Given the description of an element on the screen output the (x, y) to click on. 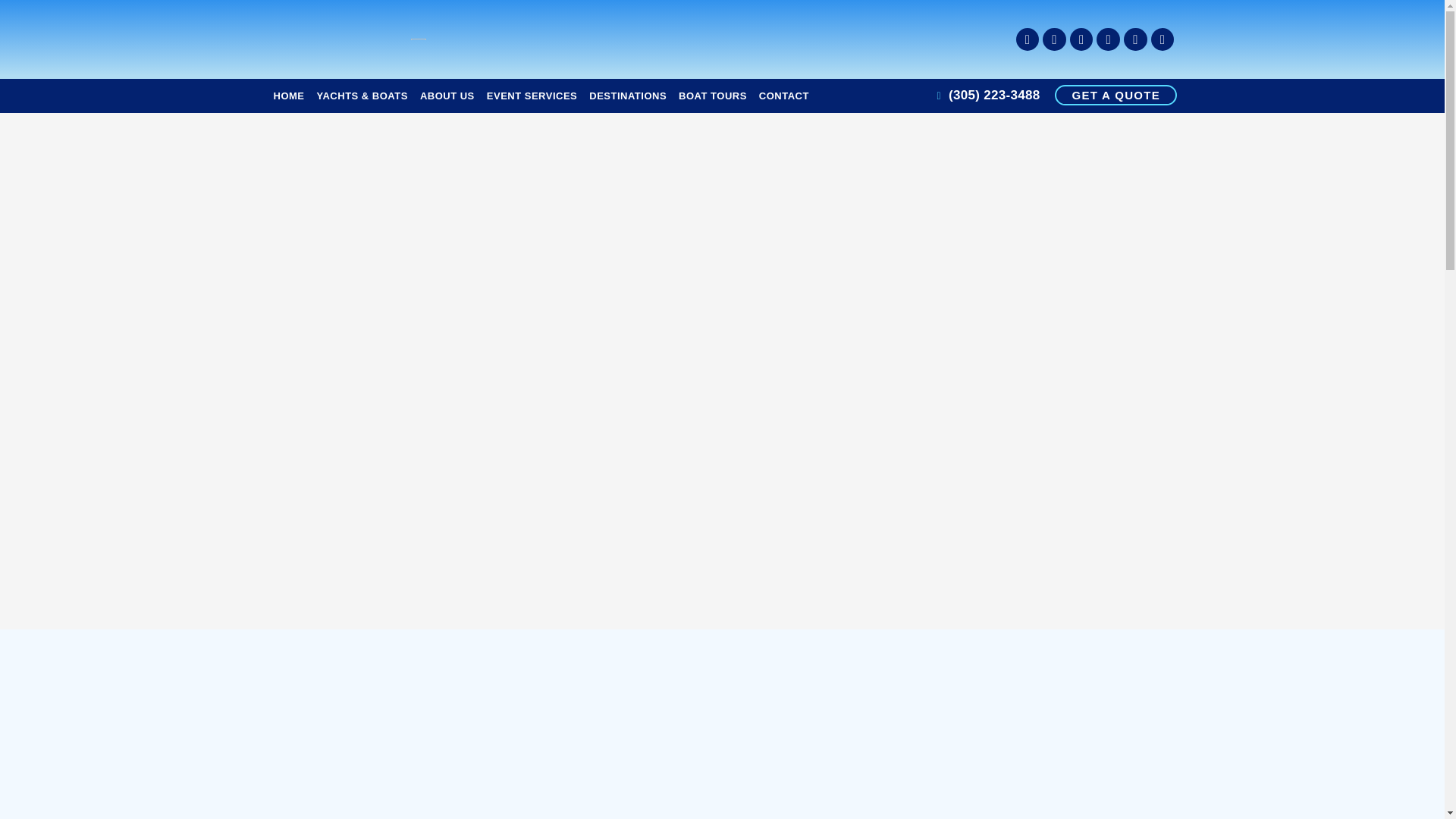
DESTINATIONS (627, 95)
ABOUT US (446, 95)
HOME (288, 95)
CONTACT (783, 95)
BOAT TOURS (712, 95)
EVENT SERVICES (531, 95)
